Given the description of an element on the screen output the (x, y) to click on. 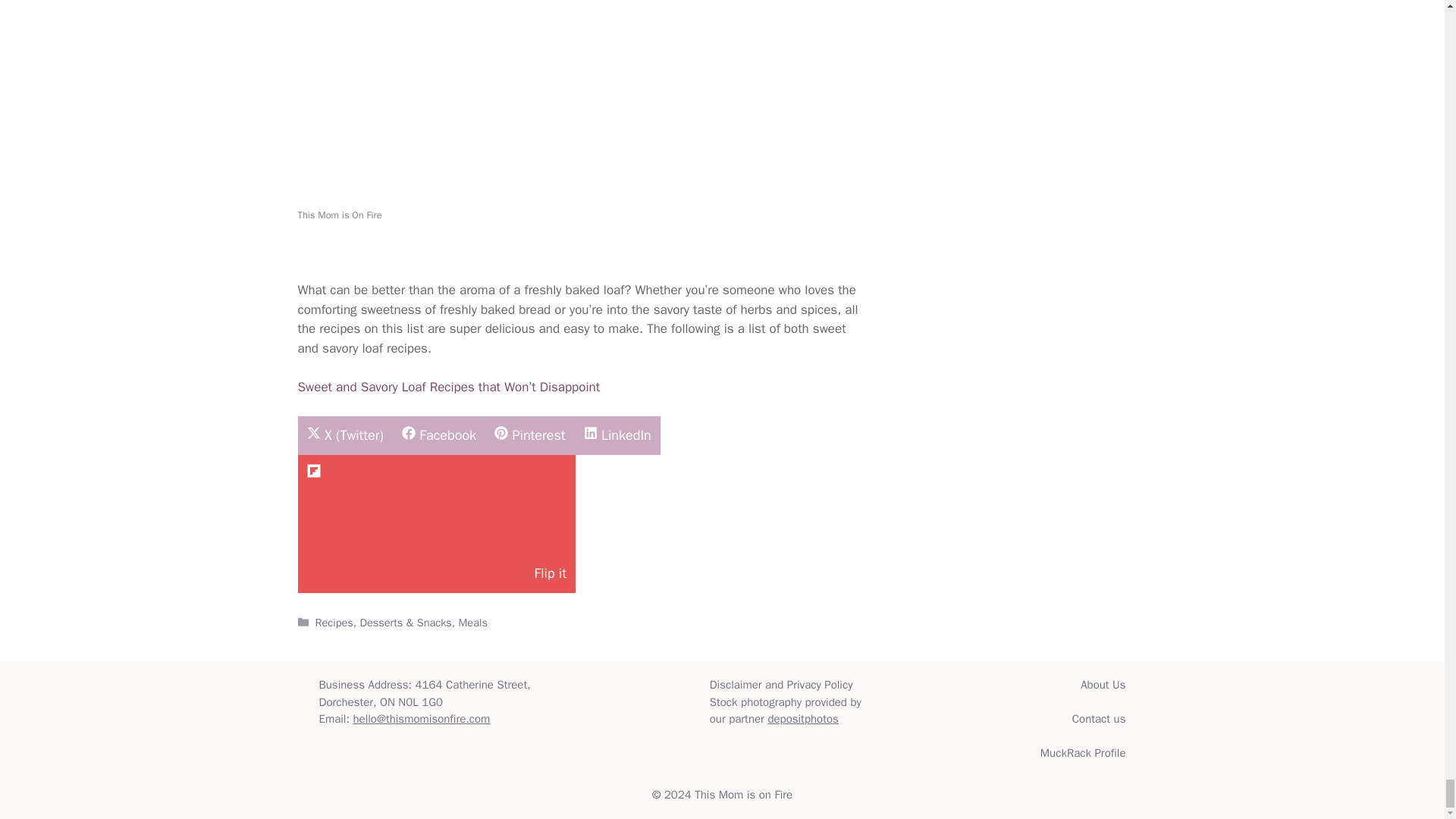
flipboard (313, 470)
